Given the description of an element on the screen output the (x, y) to click on. 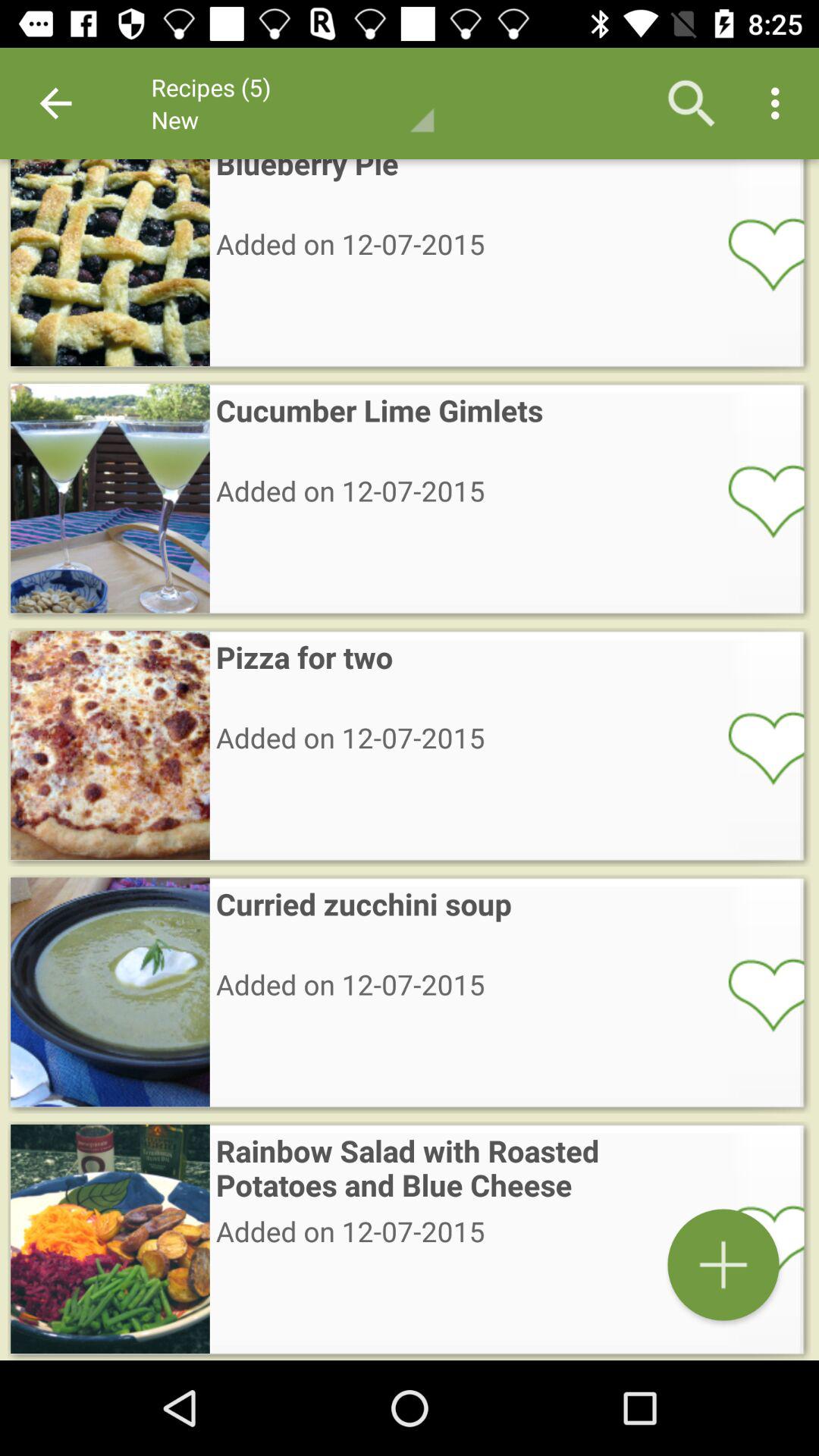
share the article (756, 1240)
